Given the description of an element on the screen output the (x, y) to click on. 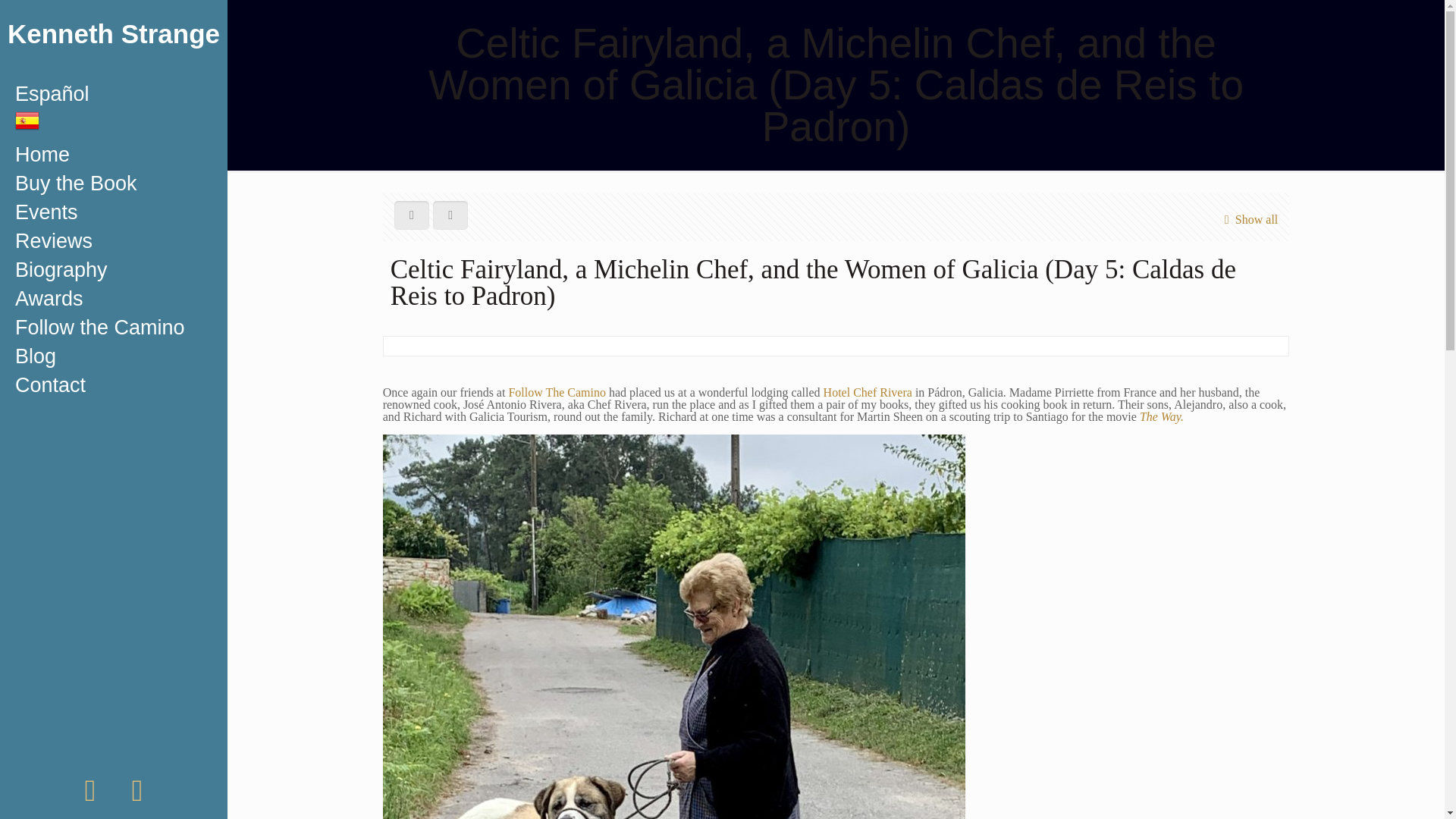
Reviews (113, 240)
Follow The Camino (556, 391)
Blog (113, 356)
LinkedIn (137, 797)
Kenneth Strange (113, 39)
Contact (113, 385)
Follow the Camino (113, 327)
Biography (113, 269)
Buy the Book (113, 183)
Events (113, 212)
Awards (113, 298)
Facebook (90, 797)
Home (113, 154)
Hotel Chef Rivera (868, 391)
The Way. (1161, 416)
